Given the description of an element on the screen output the (x, y) to click on. 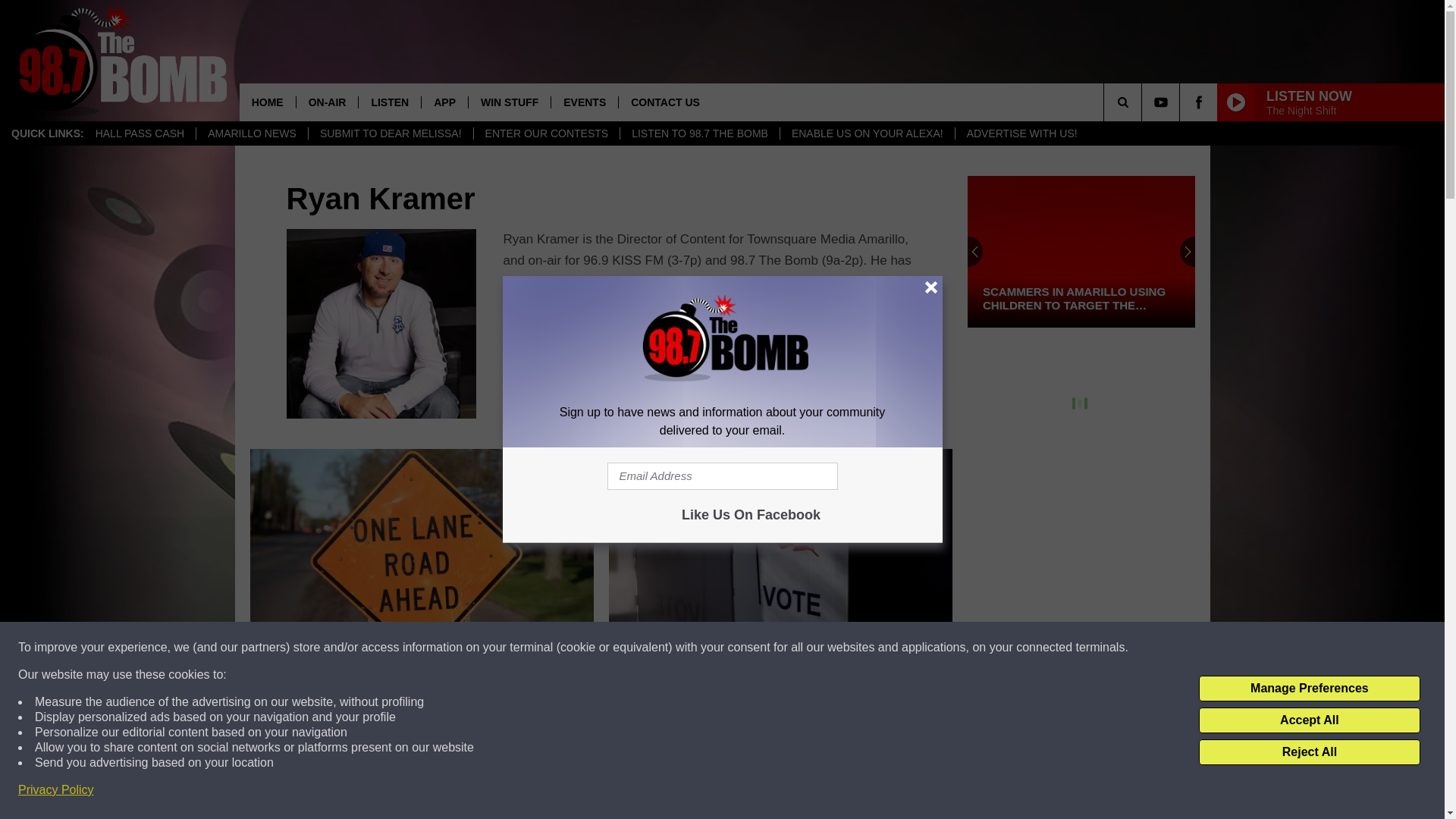
ADVERTISE WITH US! (1022, 133)
LISTEN TO 98.7 THE BOMB (699, 133)
SEARCH (1144, 102)
Privacy Policy (55, 789)
WIN STUFF (508, 102)
Email Address (722, 475)
ON-AIR (326, 102)
Accept All (1309, 720)
HALL PASS CASH (140, 133)
ENABLE US ON YOUR ALEXA! (866, 133)
LISTEN (389, 102)
SEARCH (1144, 102)
APP (443, 102)
ENTER OUR CONTESTS (546, 133)
Reject All (1309, 751)
